Given the description of an element on the screen output the (x, y) to click on. 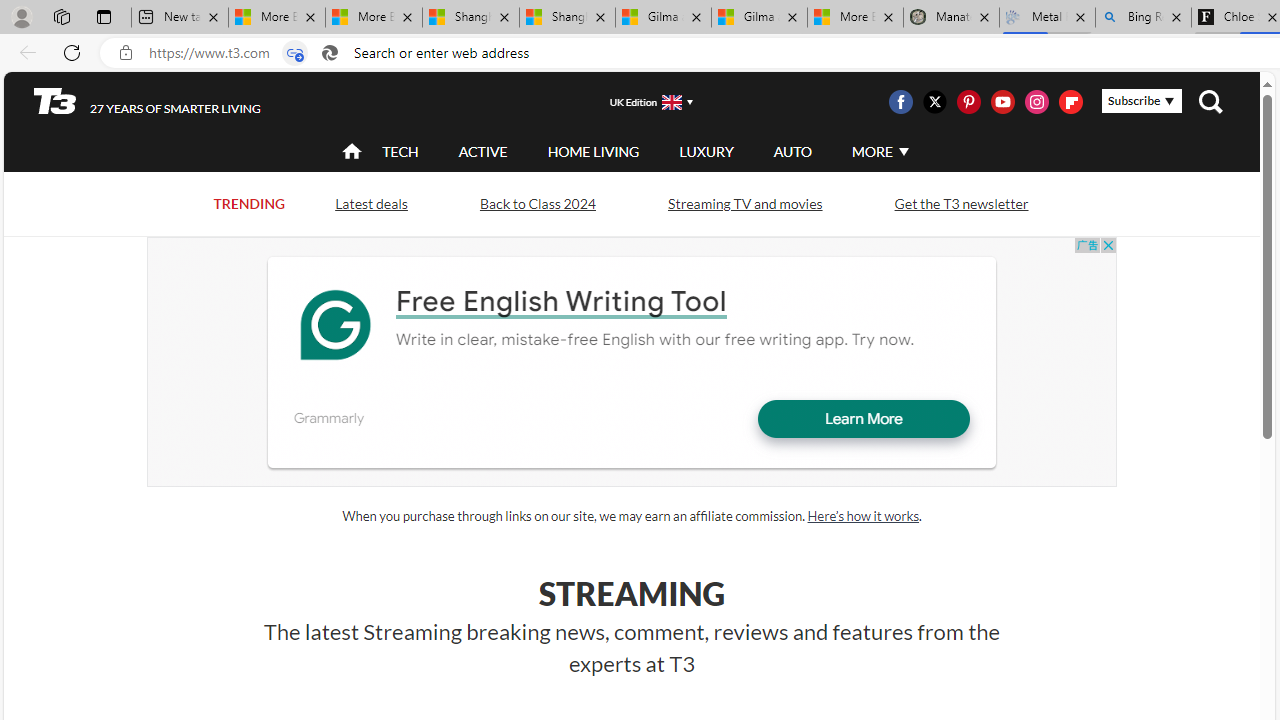
AUTO (792, 151)
Get the T3 newsletter (960, 204)
Latest deals (370, 204)
Visit us on Youtube (1002, 101)
Search icon (329, 53)
